Given the description of an element on the screen output the (x, y) to click on. 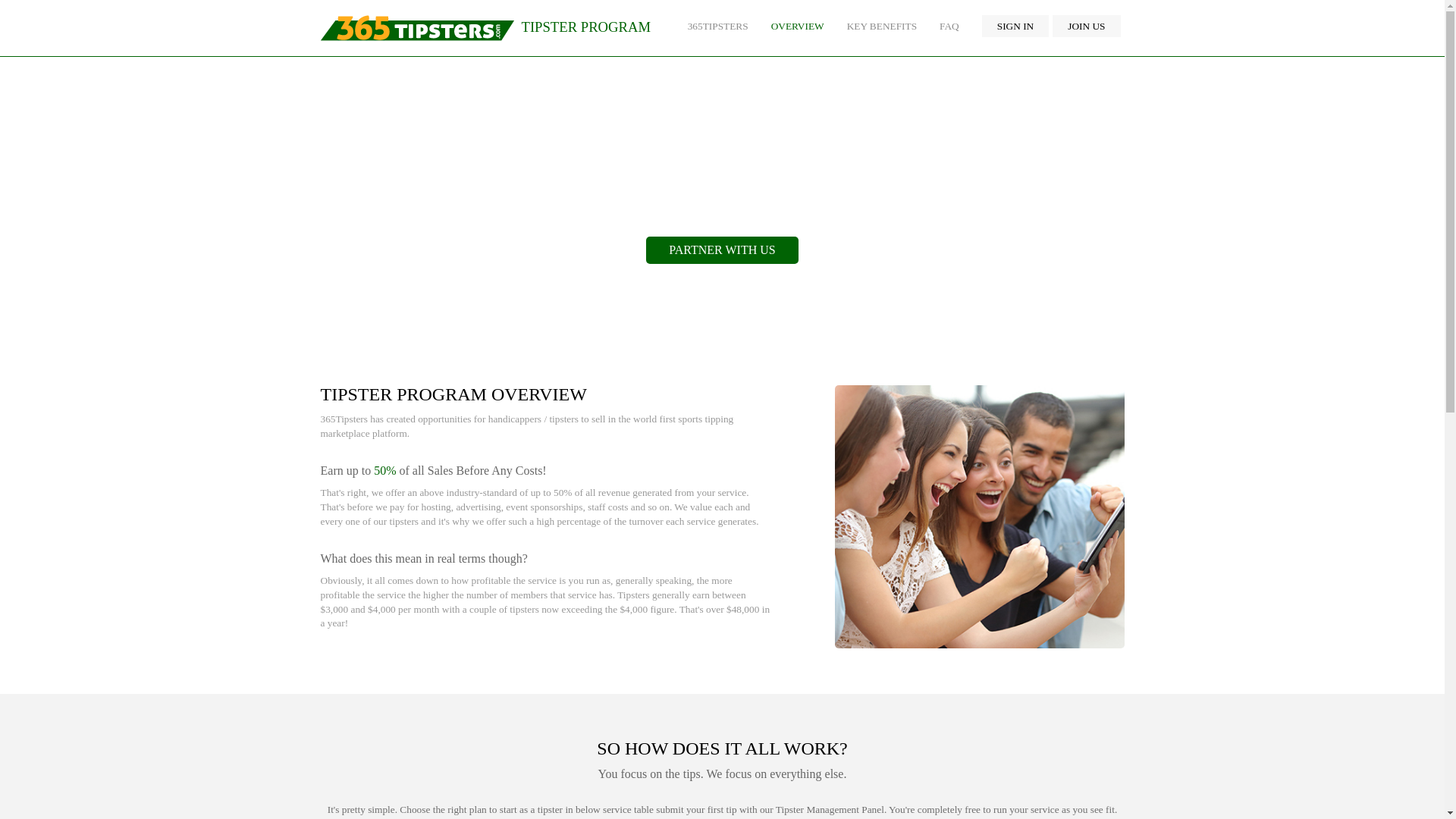
PARTNER WITH US Element type: text (721, 249)
SIGN IN Element type: text (1015, 26)
KEY BENEFITS Element type: text (881, 26)
JOIN US Element type: text (1086, 26)
365TIPSTERS Element type: text (717, 26)
FAQ Element type: text (949, 26)
OVERVIEW Element type: text (797, 26)
TIPSTER PROGRAM Element type: text (485, 27)
